Given the description of an element on the screen output the (x, y) to click on. 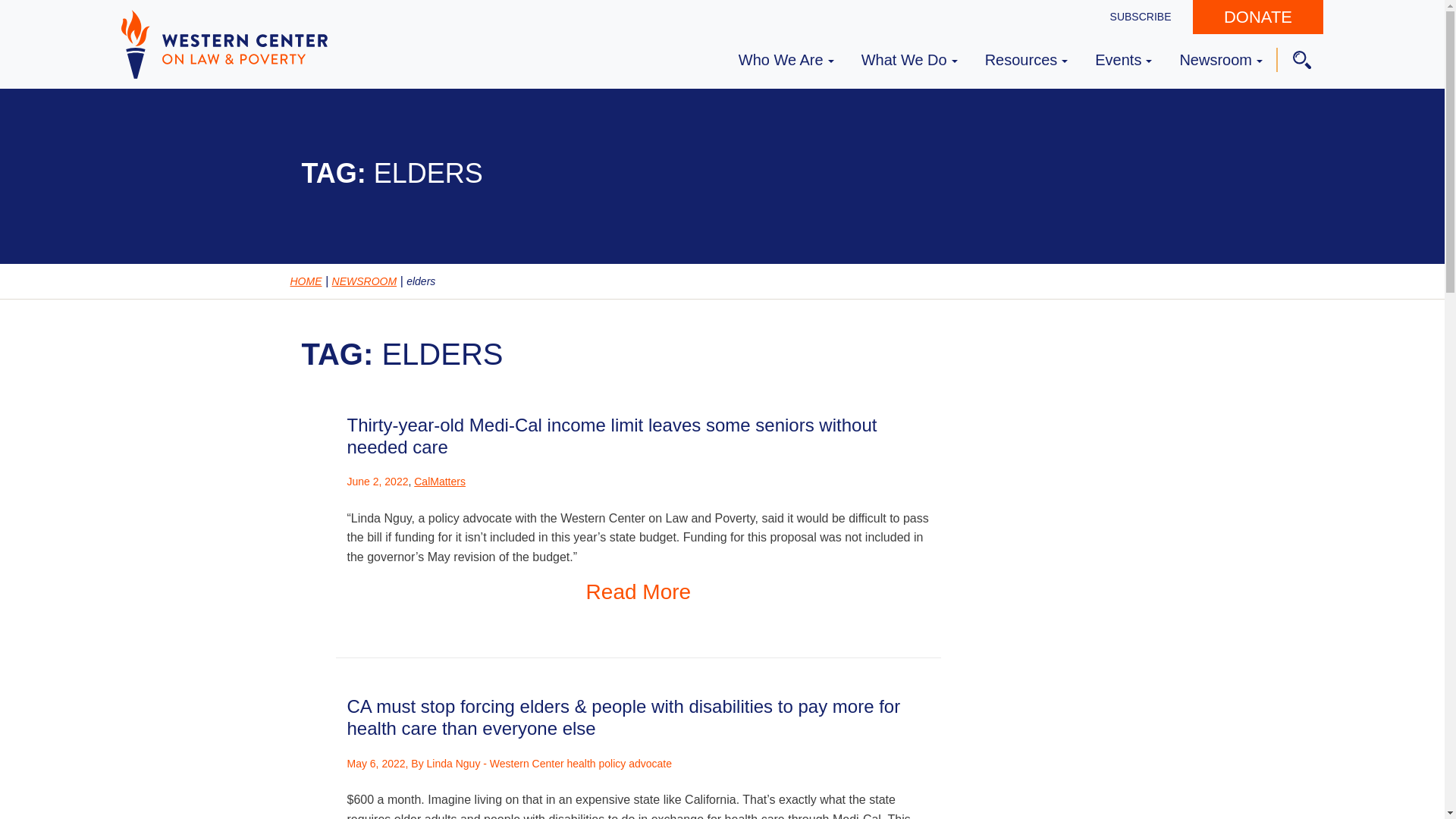
Events (1123, 58)
What We Do (909, 58)
Who We Are (786, 58)
DONATE (1257, 17)
Who We Are (786, 58)
What We Do (909, 58)
Resources (1026, 58)
SUBSCRIBE (1140, 16)
Search (25, 12)
Newsroom (1220, 58)
